Given the description of an element on the screen output the (x, y) to click on. 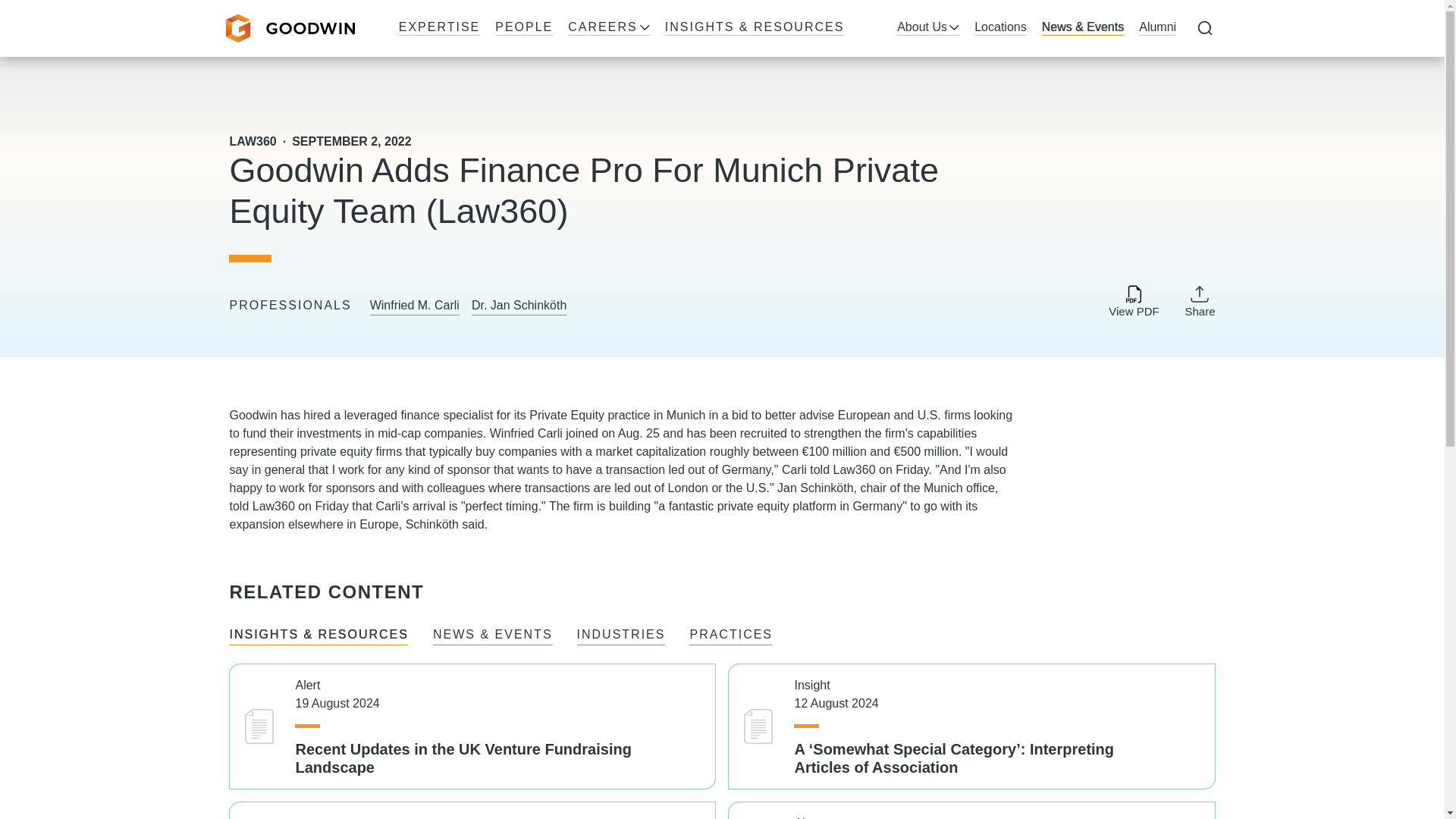
Law360 (853, 469)
PRACTICES (730, 636)
Winfried Carli (525, 432)
Munich (686, 414)
Goodwin (290, 28)
About Us (927, 28)
CAREERS (608, 28)
Share (1199, 300)
View PDF (1133, 302)
Private Equity (566, 414)
